Given the description of an element on the screen output the (x, y) to click on. 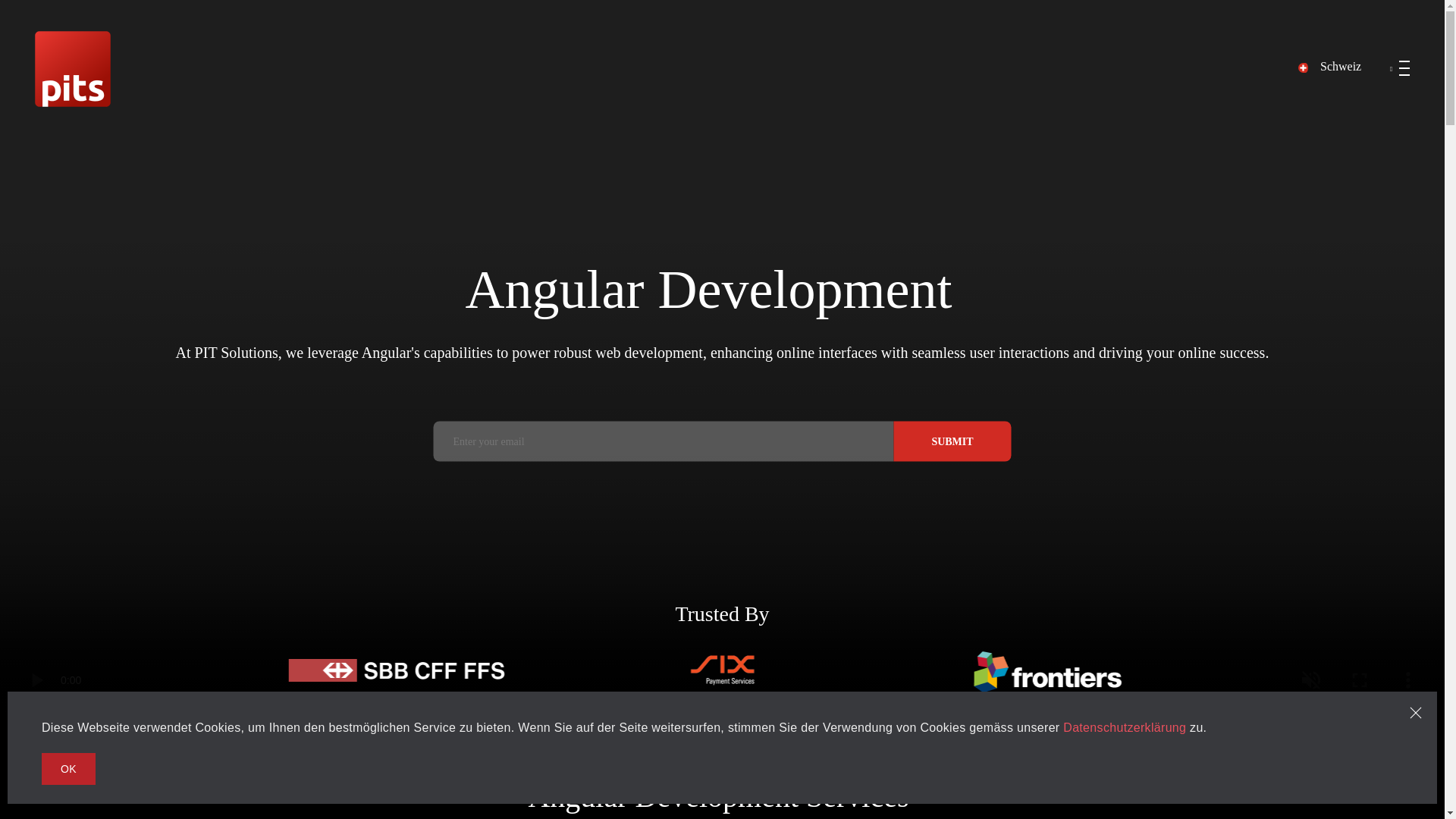
OK (69, 768)
Schweiz (1325, 66)
SUBMIT (951, 441)
